Given the description of an element on the screen output the (x, y) to click on. 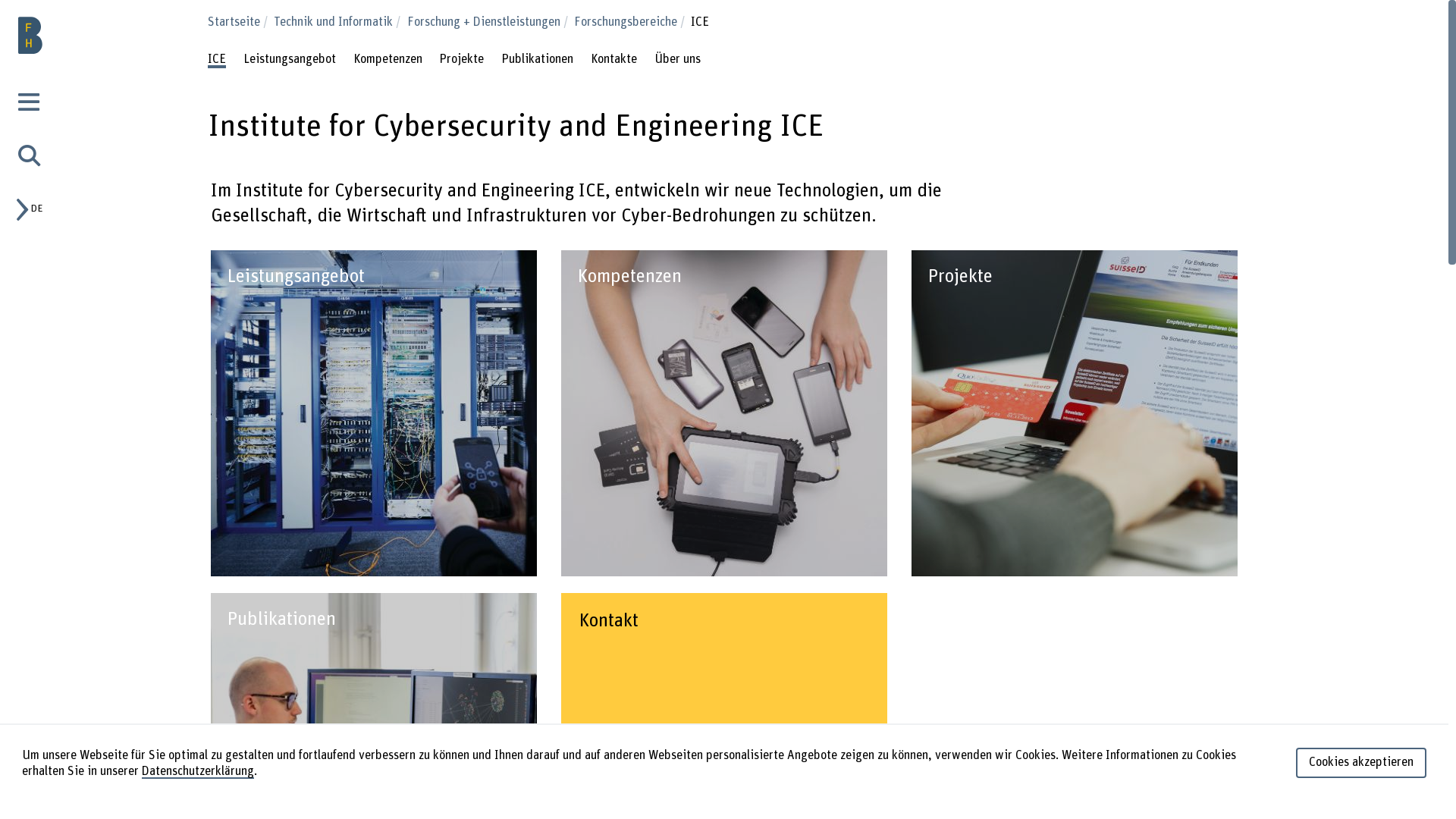
Kompetenzen Element type: text (387, 60)
ICE Element type: text (216, 60)
Projekte Element type: text (461, 60)
Cookies akzeptieren Element type: text (1360, 762)
Leistungsangebot Element type: text (289, 60)
Kontakte Element type: text (613, 60)
Forschungsbereiche Element type: text (631, 21)
Startseite Element type: text (239, 21)
Projekte Element type: text (1074, 413)
Leistungsangebot Element type: text (373, 413)
Technik und Informatik Element type: text (338, 21)
Publikationen Element type: text (537, 60)
Kompetenzen Element type: text (724, 413)
Forschung + Dienstleistungen Element type: text (488, 21)
DE Element type: text (34, 208)
